Given the description of an element on the screen output the (x, y) to click on. 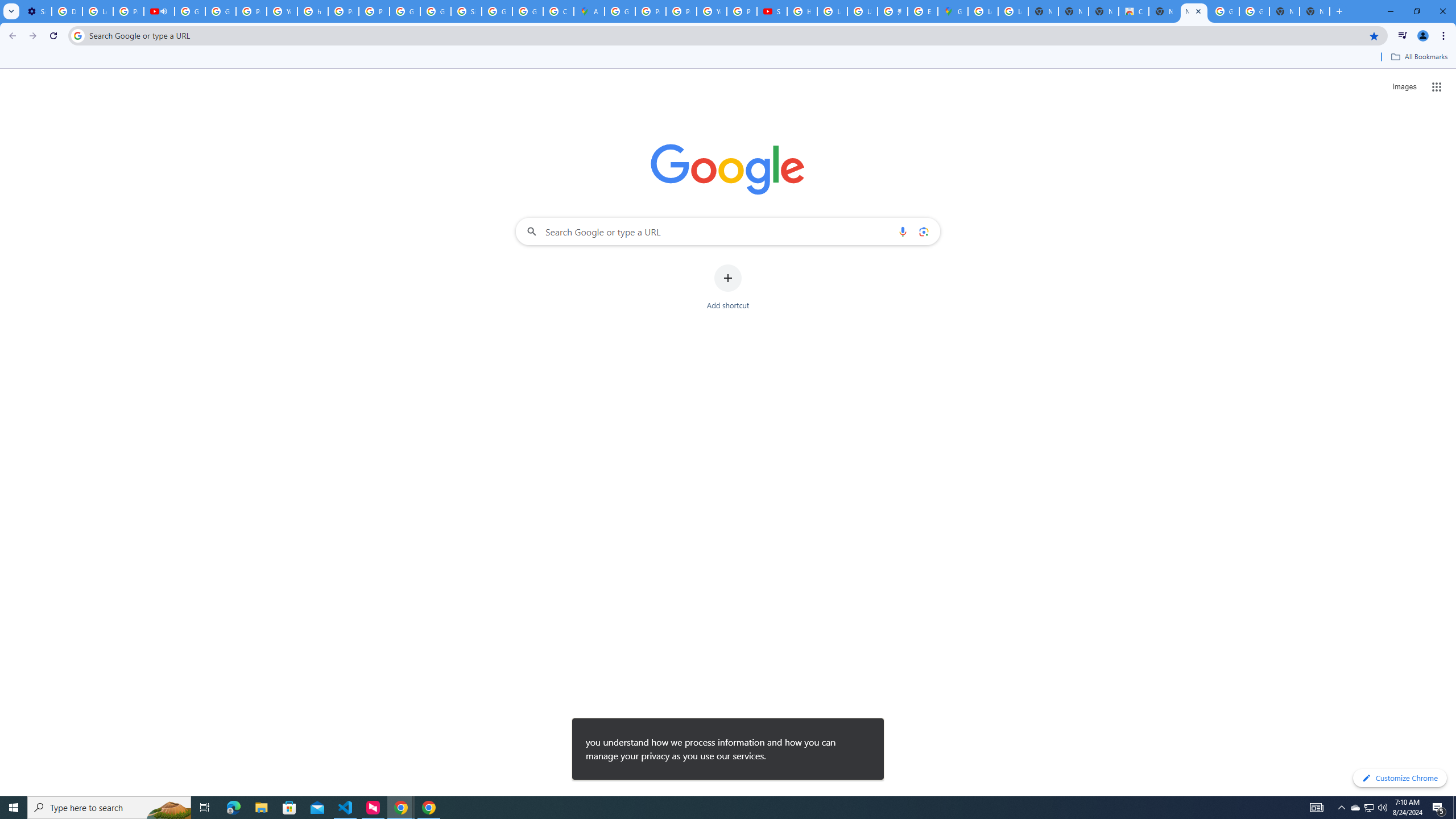
YouTube (711, 11)
Explore new street-level details - Google Maps Help (922, 11)
Privacy Help Center - Policies Help (650, 11)
Google Images (1224, 11)
New Tab (1314, 11)
Sign in - Google Accounts (465, 11)
Search Google or type a URL (727, 230)
